Given the description of an element on the screen output the (x, y) to click on. 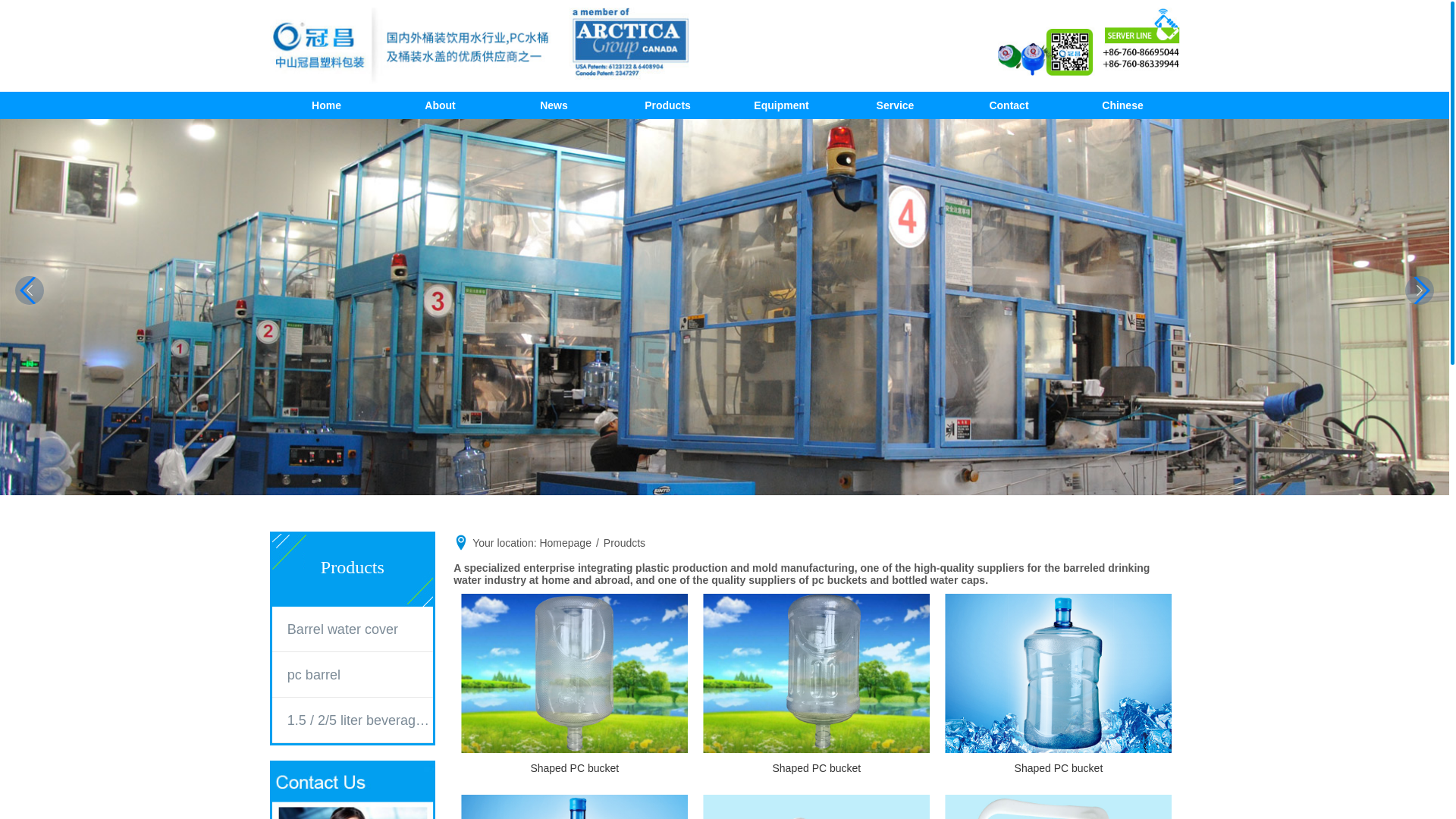
pc barrel Element type: text (360, 674)
Service Element type: text (895, 105)
News Element type: text (554, 105)
Shaped PC bucket Element type: hover (1057, 673)
1.5 / 2/5 liter beverage handle Element type: text (360, 720)
Shaped PC bucket Element type: hover (574, 673)
Products Element type: text (667, 105)
About Element type: text (440, 105)
Equipment Element type: text (781, 105)
Home Element type: text (326, 105)
Homepage Element type: text (565, 542)
Contact Element type: text (1009, 105)
Shaped PC bucket Element type: hover (815, 673)
Barrel water cover Element type: text (360, 629)
Chinese Element type: text (1122, 105)
